Given the description of an element on the screen output the (x, y) to click on. 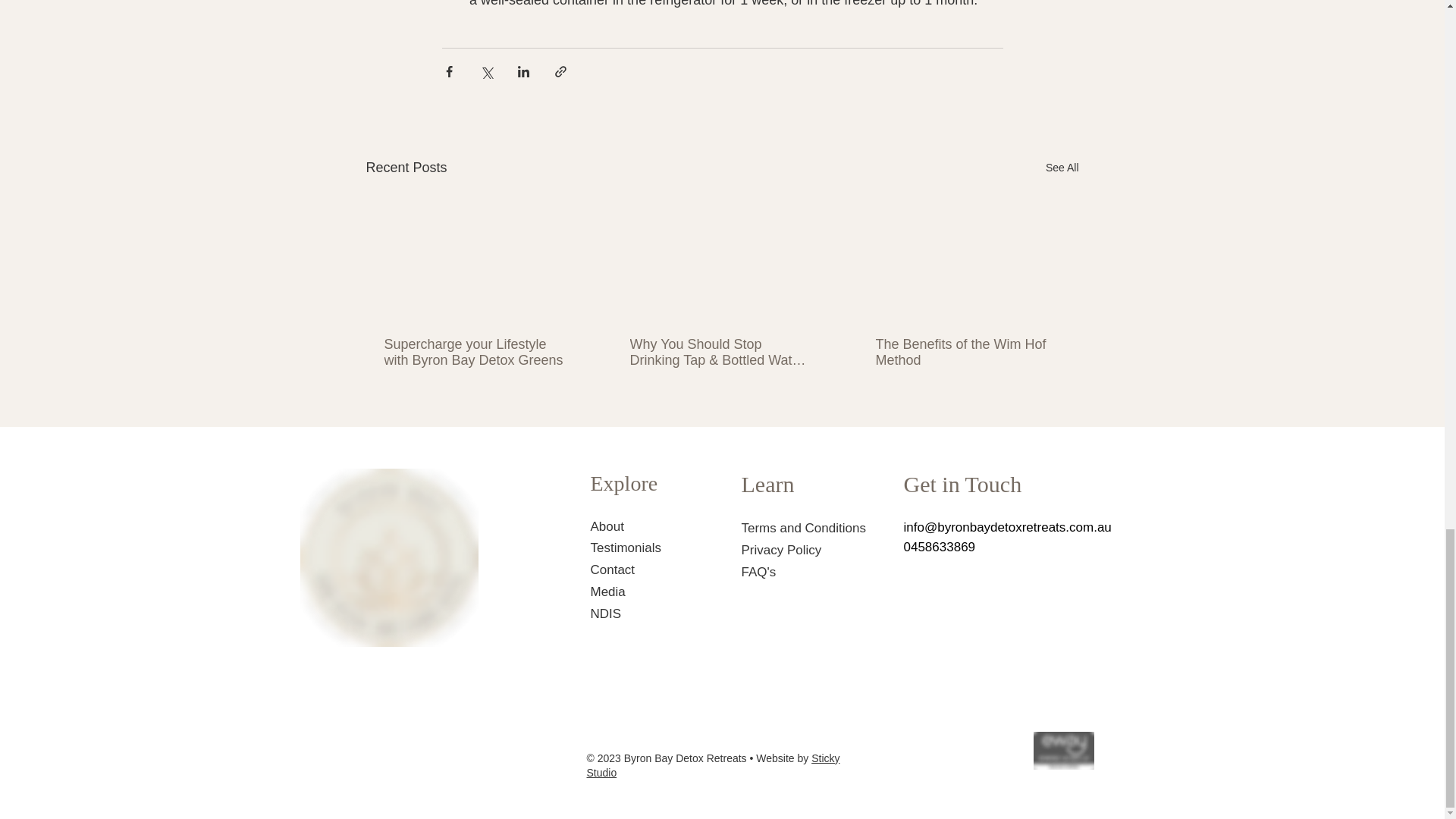
FAQ's (758, 572)
Privacy Policy (781, 549)
Sticky Studio (713, 765)
Testimonials (625, 547)
About (606, 526)
See All (1061, 168)
The Benefits of the Wim Hof Method (966, 352)
Supercharge your Lifestyle with Byron Bay Detox Greens (475, 352)
0458633869 (939, 546)
Contact (611, 569)
Terms and Conditions (803, 527)
NDIS (605, 613)
Media (606, 591)
